Given the description of an element on the screen output the (x, y) to click on. 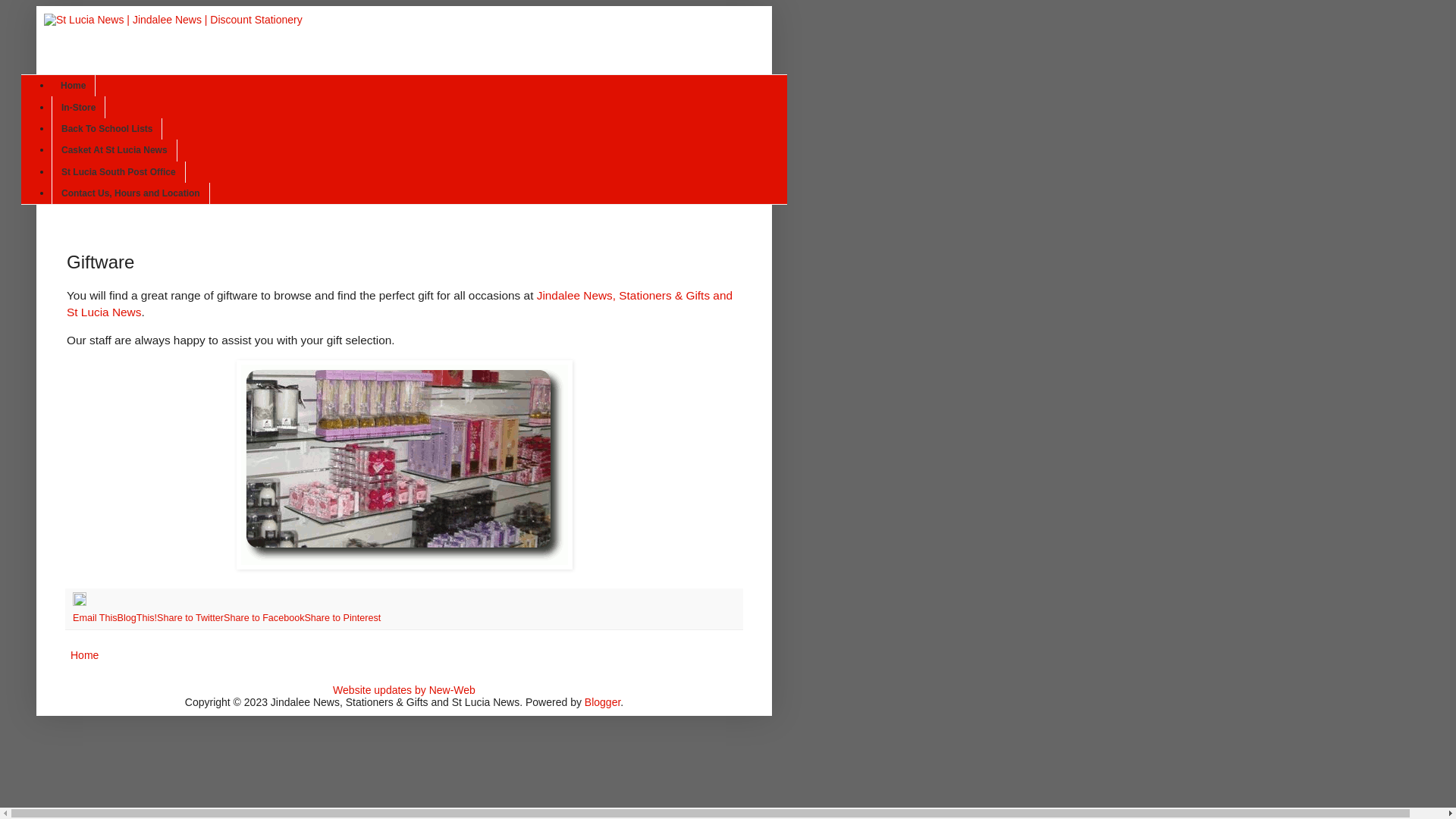
Giftware Element type: hover (404, 464)
Share to Twitter Element type: text (189, 617)
Share to Pinterest Element type: text (342, 617)
BlogThis! Element type: text (137, 617)
Casket At St Lucia News Element type: text (114, 149)
Back To School Lists Element type: text (106, 128)
Home Element type: text (84, 655)
Website updates by New-Web Element type: text (403, 690)
St Lucia South Post Office Element type: text (118, 171)
Share to Facebook Element type: text (263, 617)
Edit page Element type: hover (79, 602)
Email This Element type: text (94, 617)
In-Store Element type: text (78, 106)
Jindalee News, Stationers & Gifts and St Lucia News Element type: text (399, 303)
Blogger Element type: text (602, 702)
Home Element type: text (73, 85)
Contact Us, Hours and Location Element type: text (130, 192)
